Given the description of an element on the screen output the (x, y) to click on. 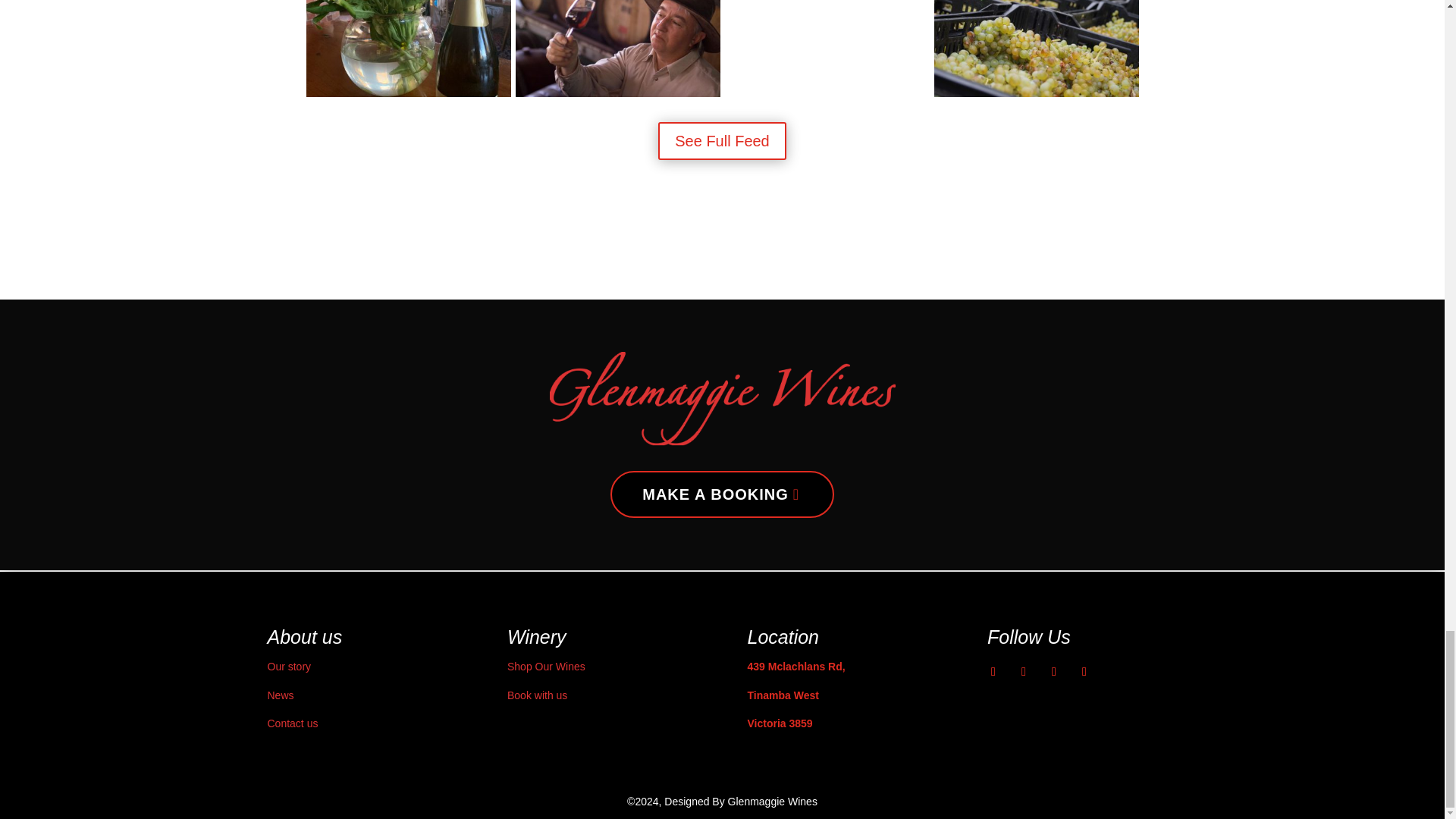
Glenmaggie Wines (617, 92)
Story (288, 666)
Our Vineyard (1036, 92)
logo6-red (721, 399)
Glenmaggie Wine (827, 92)
Our Wines (408, 92)
News (280, 695)
